Given the description of an element on the screen output the (x, y) to click on. 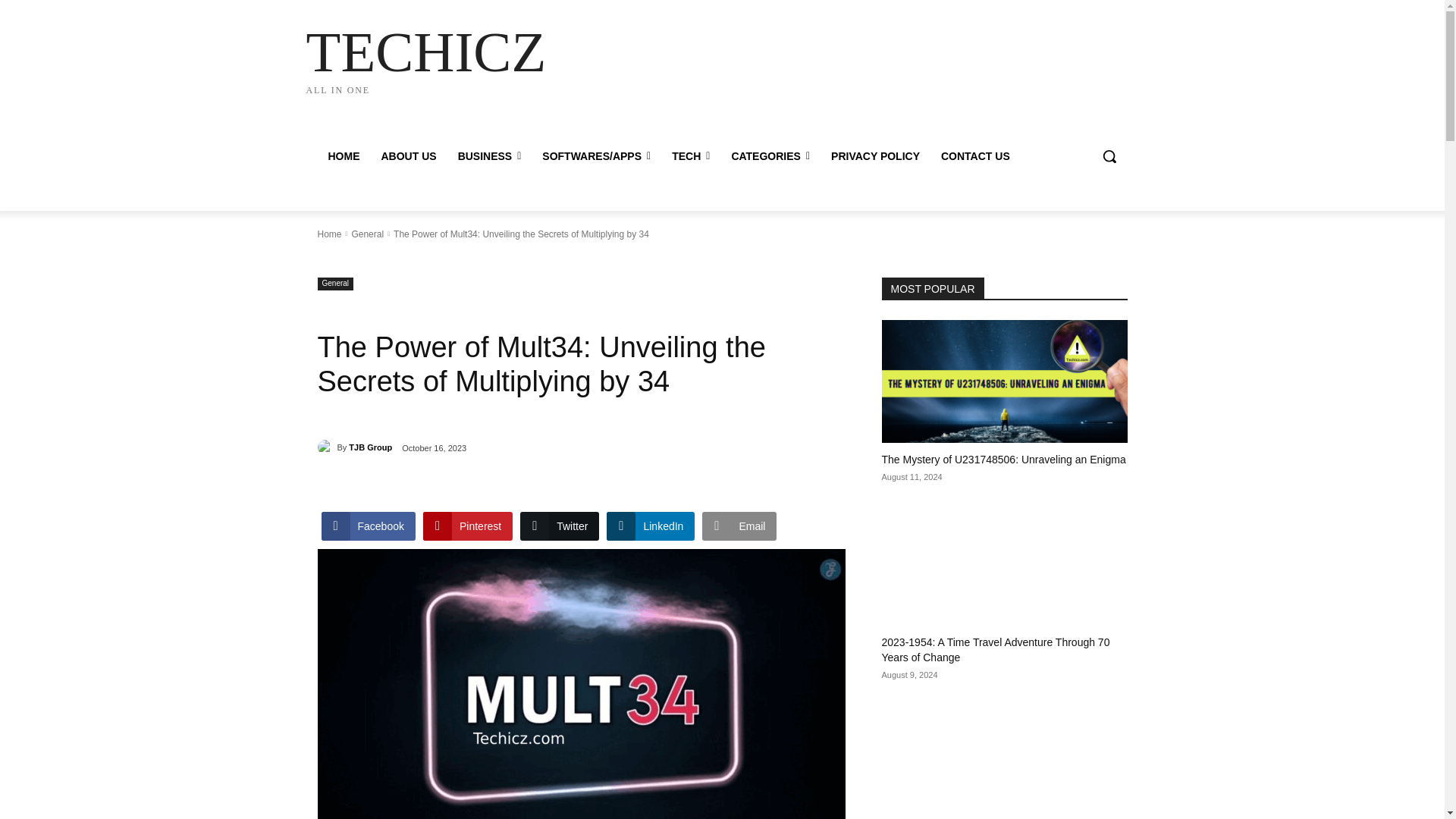
BUSINESS (489, 156)
HOME (343, 156)
TECHICZ (425, 58)
ABOUT US (425, 58)
